Given the description of an element on the screen output the (x, y) to click on. 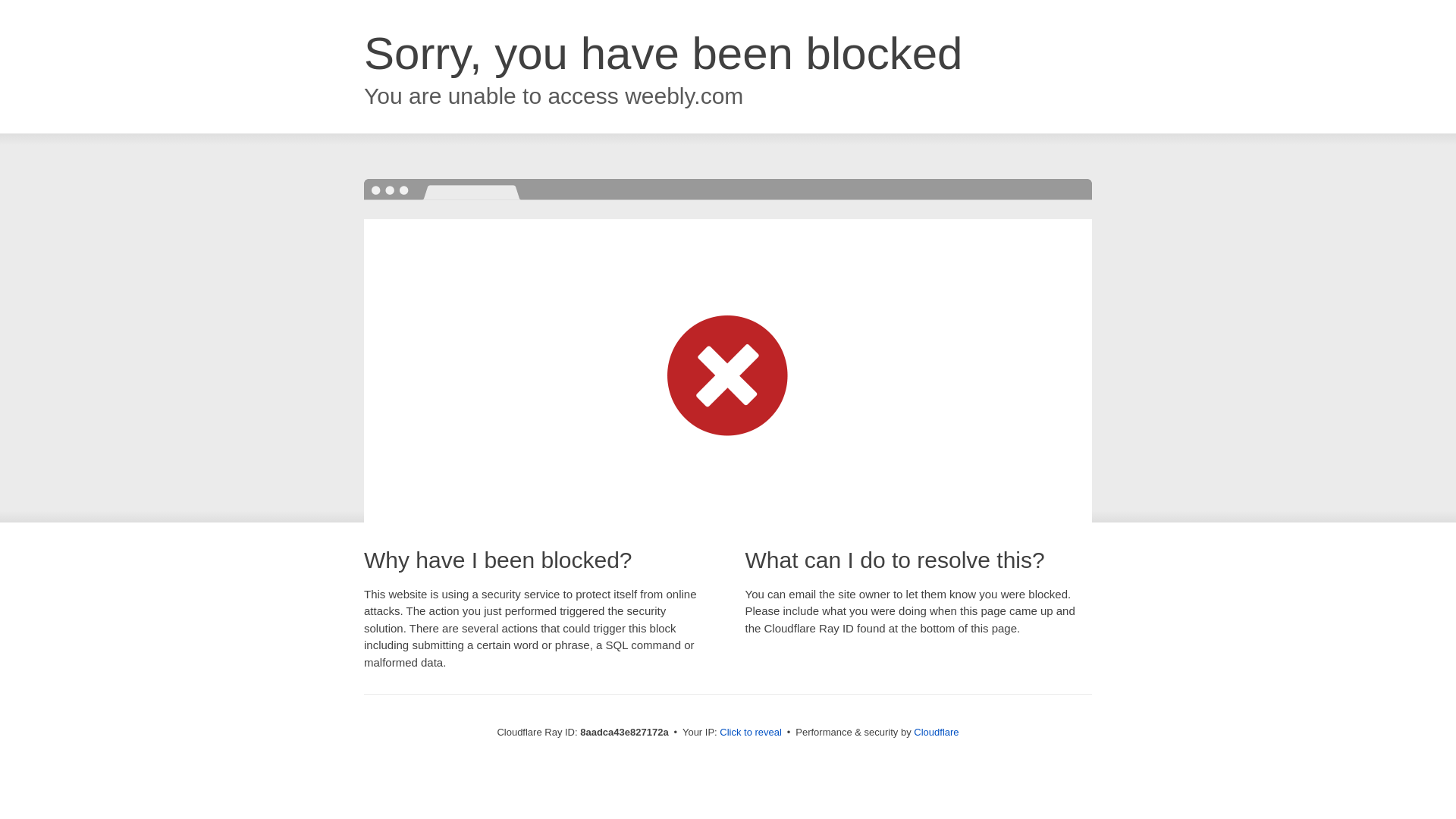
Cloudflare (936, 731)
Click to reveal (750, 732)
